Given the description of an element on the screen output the (x, y) to click on. 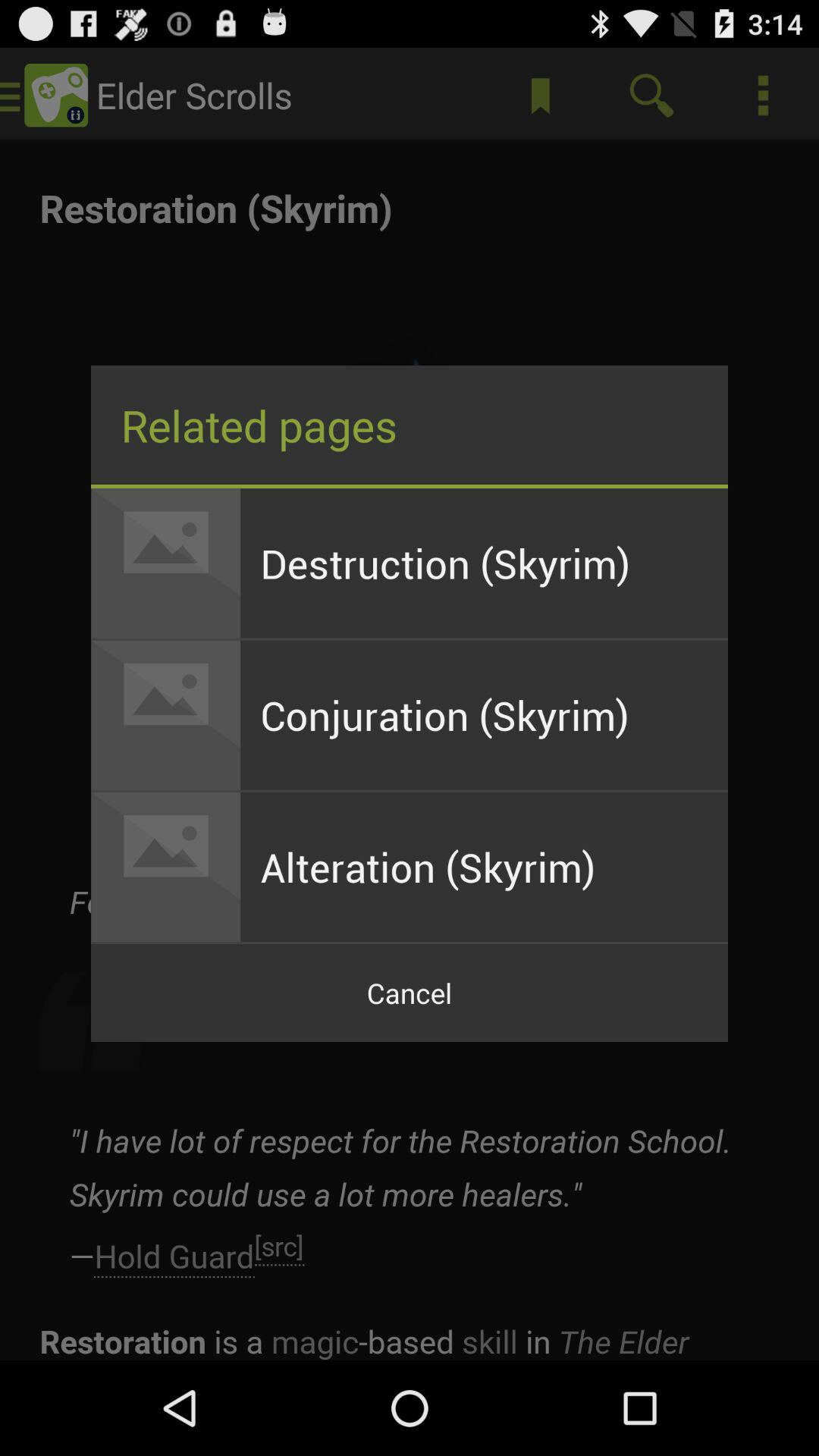
scroll until destruction (skyrim) item (484, 563)
